Given the description of an element on the screen output the (x, y) to click on. 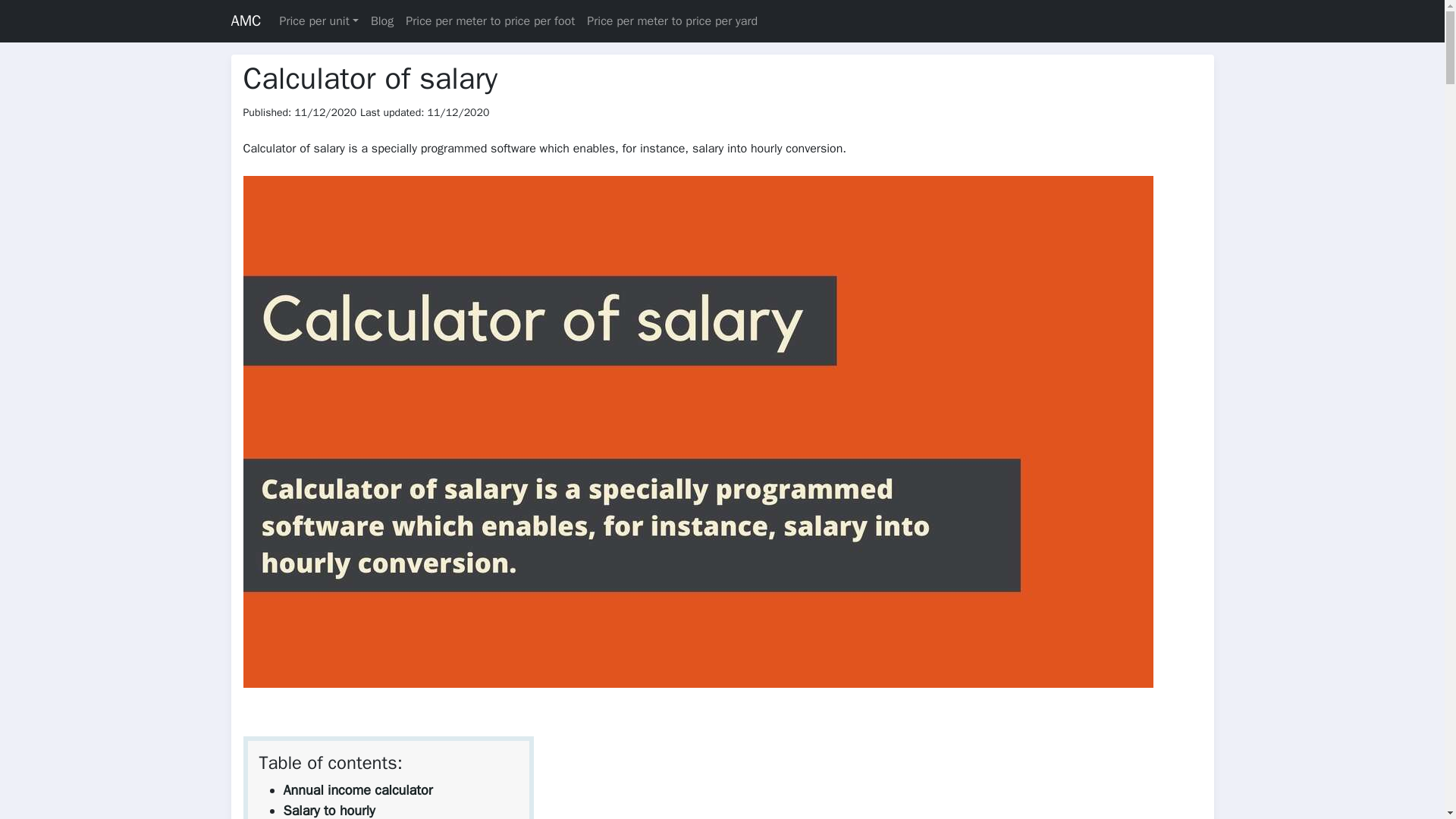
Salary to hourly (329, 810)
Annual income calculator (357, 790)
Price per meter to price per yard (671, 20)
Blog (381, 20)
Price per meter to price per foot (489, 20)
AMC (245, 20)
Price per unit (318, 20)
